Given the description of an element on the screen output the (x, y) to click on. 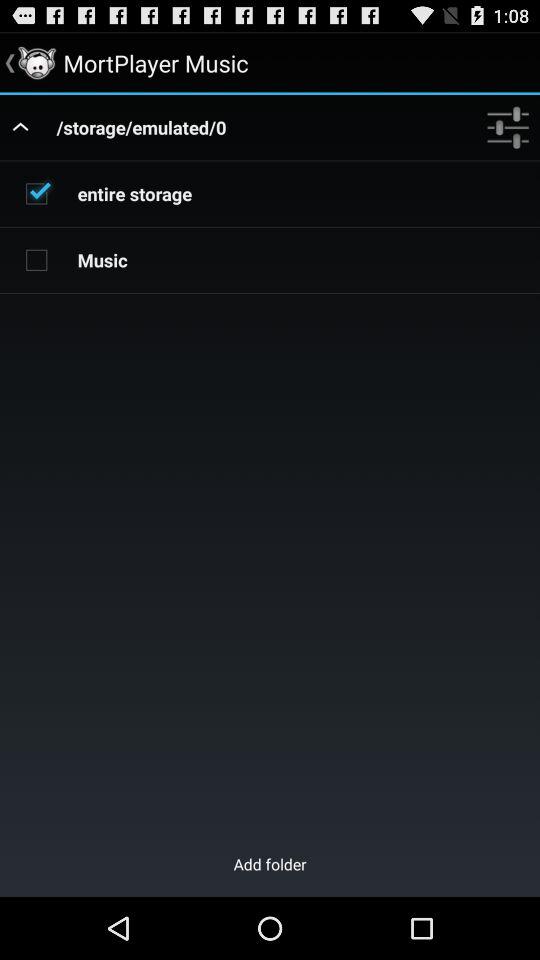
check music category (36, 259)
